Given the description of an element on the screen output the (x, y) to click on. 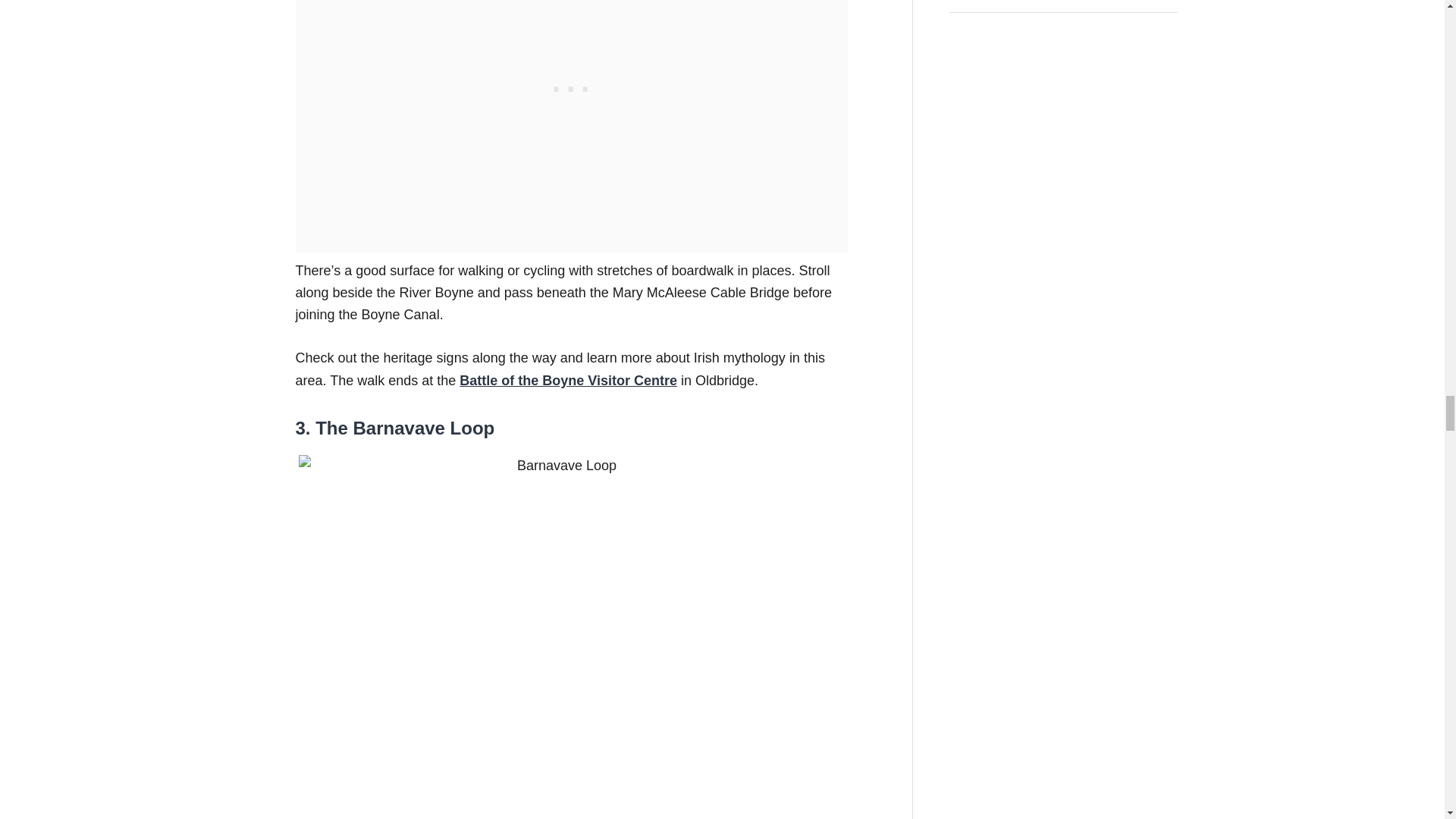
Battle of the Boyne Visitor Centre (568, 380)
